Given the description of an element on the screen output the (x, y) to click on. 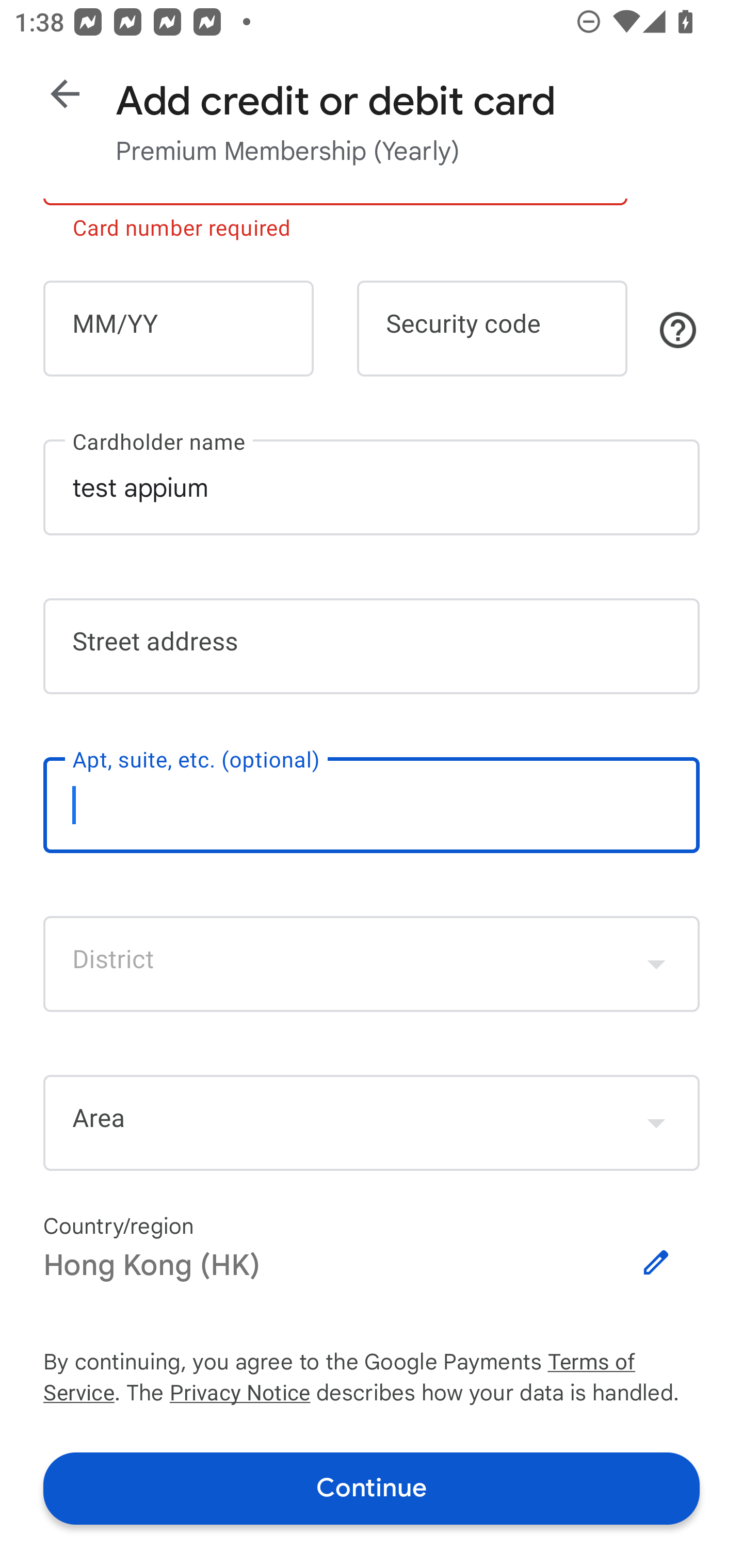
Back (64, 93)
Expiration date, 2 digit month, 2 digit year (178, 328)
Security code (492, 328)
Security code help (677, 329)
test appium (371, 486)
Street address (371, 646)
Apt, suite, etc. (optional) (371, 804)
District (371, 963)
Show dropdown menu (655, 963)
Area (371, 1123)
Show dropdown menu (655, 1122)
country edit button (655, 1262)
Terms of Service (623, 1362)
Privacy Notice (239, 1394)
Continue (371, 1487)
